Given the description of an element on the screen output the (x, y) to click on. 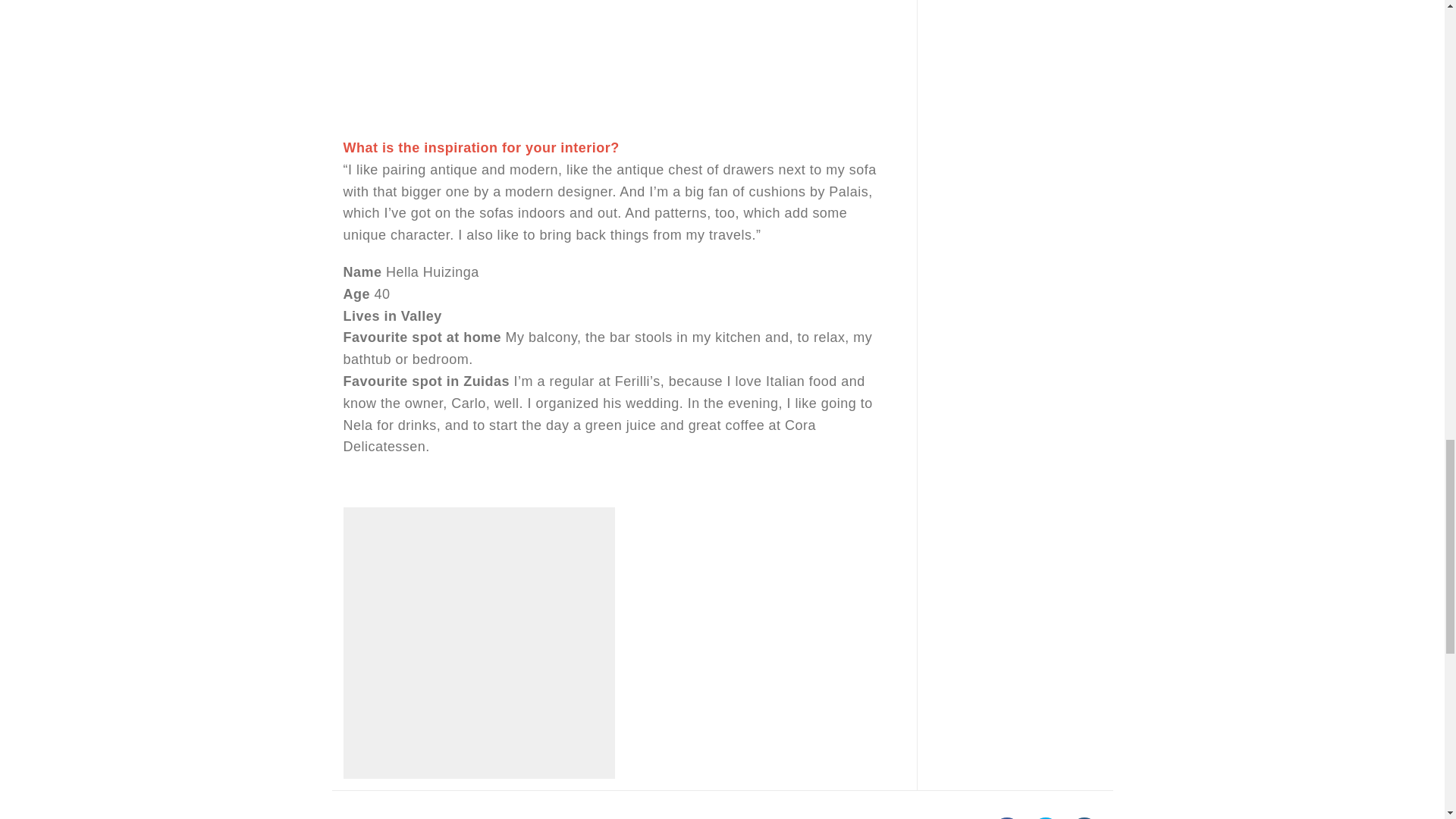
Twitter (1045, 818)
Facebook (1006, 818)
Instagram (1083, 818)
